Given the description of an element on the screen output the (x, y) to click on. 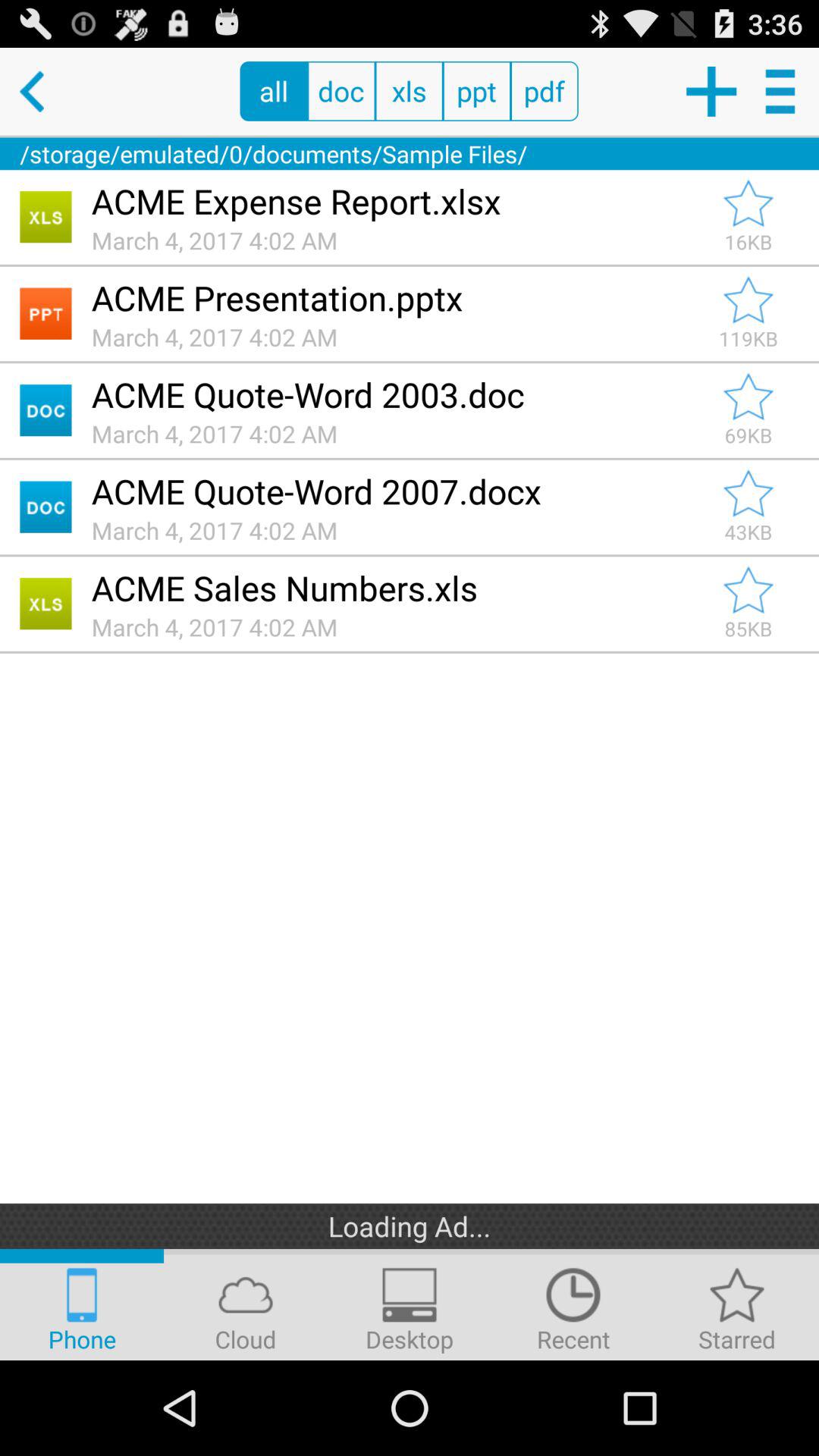
create new document (710, 91)
